Given the description of an element on the screen output the (x, y) to click on. 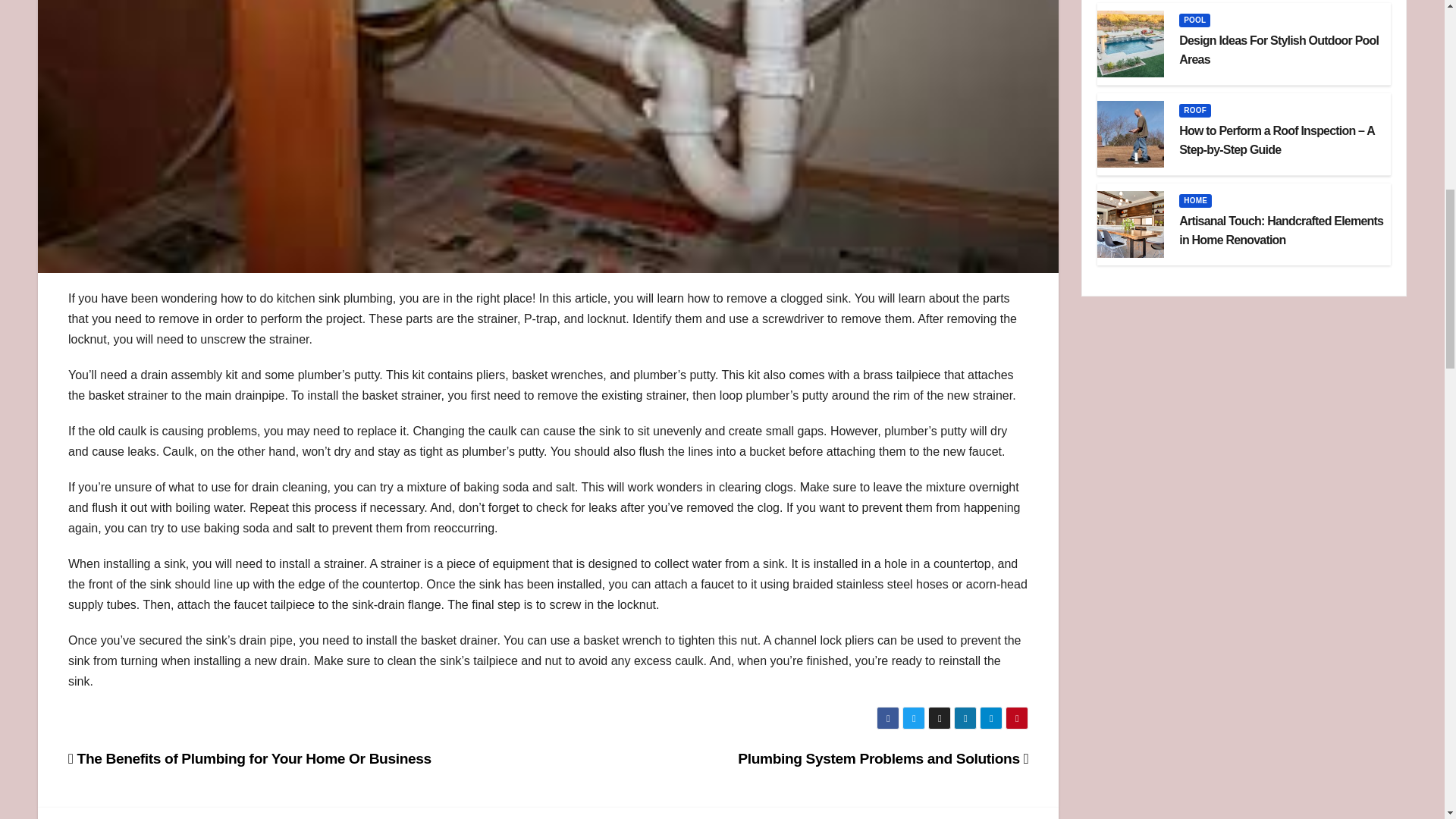
Plumbing System Problems and Solutions (882, 758)
The Benefits of Plumbing for Your Home Or Business (249, 758)
